Given the description of an element on the screen output the (x, y) to click on. 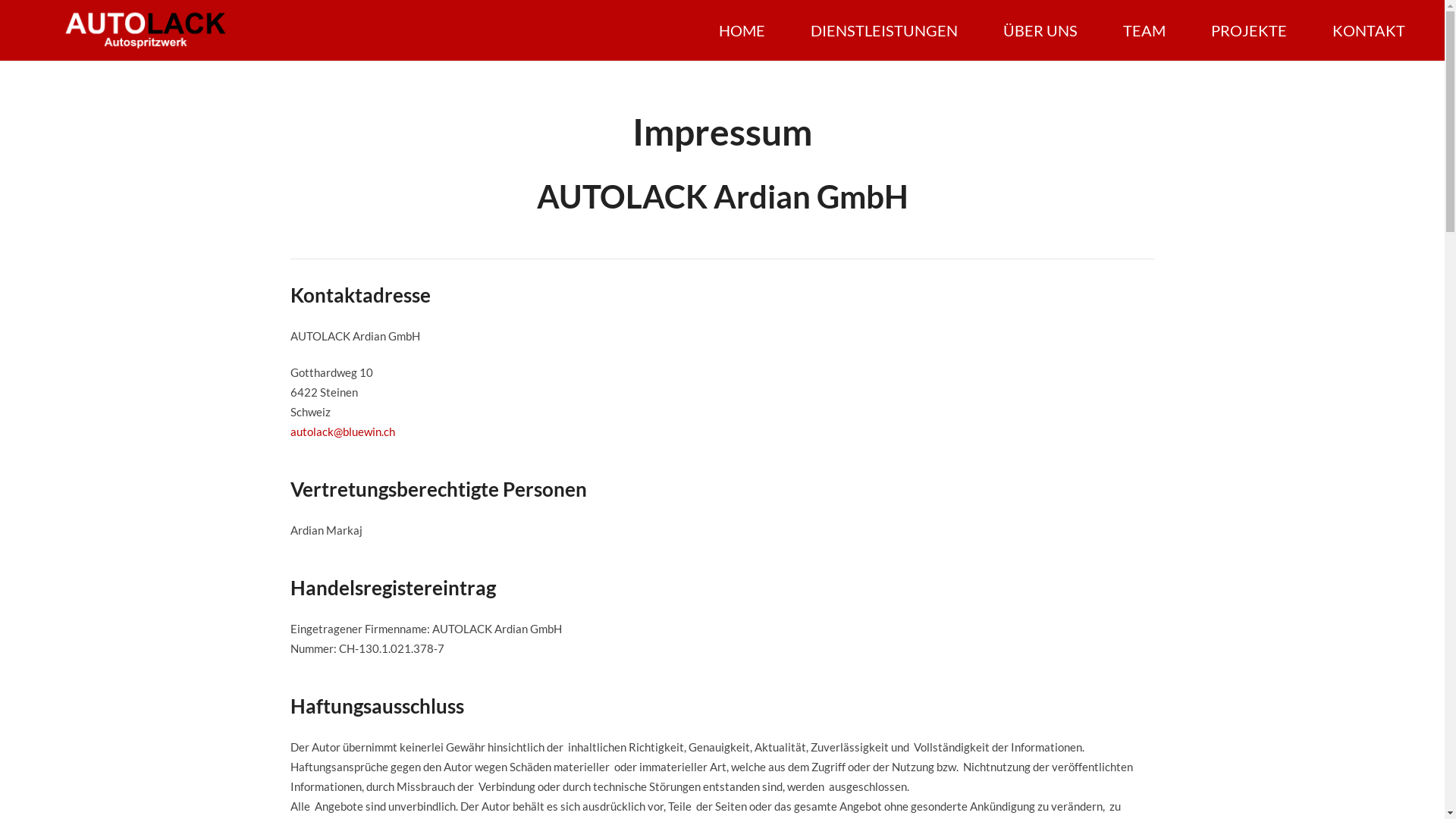
DIENSTLEISTUNGEN Element type: text (883, 30)
PROJEKTE Element type: text (1248, 30)
TEAM Element type: text (1144, 30)
KONTAKT Element type: text (1368, 30)
autolack@bluewin.ch Element type: text (341, 431)
HOME Element type: text (741, 30)
